Given the description of an element on the screen output the (x, y) to click on. 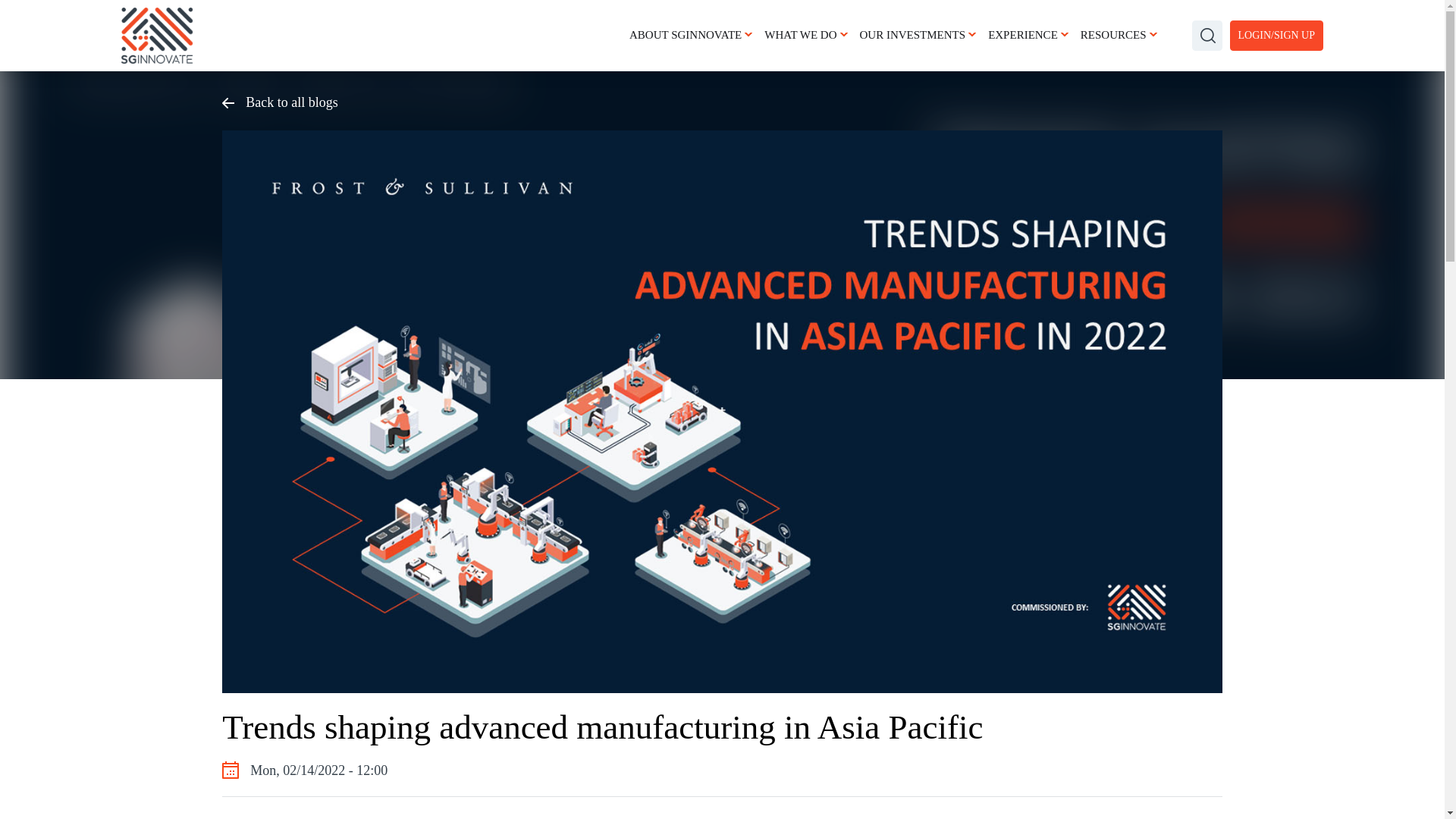
ABOUT SGINNOVATE (696, 35)
OUR INVESTMENTS (924, 35)
RESOURCES (1124, 35)
EXPERIENCE (1034, 35)
WHAT WE DO (811, 35)
